Given the description of an element on the screen output the (x, y) to click on. 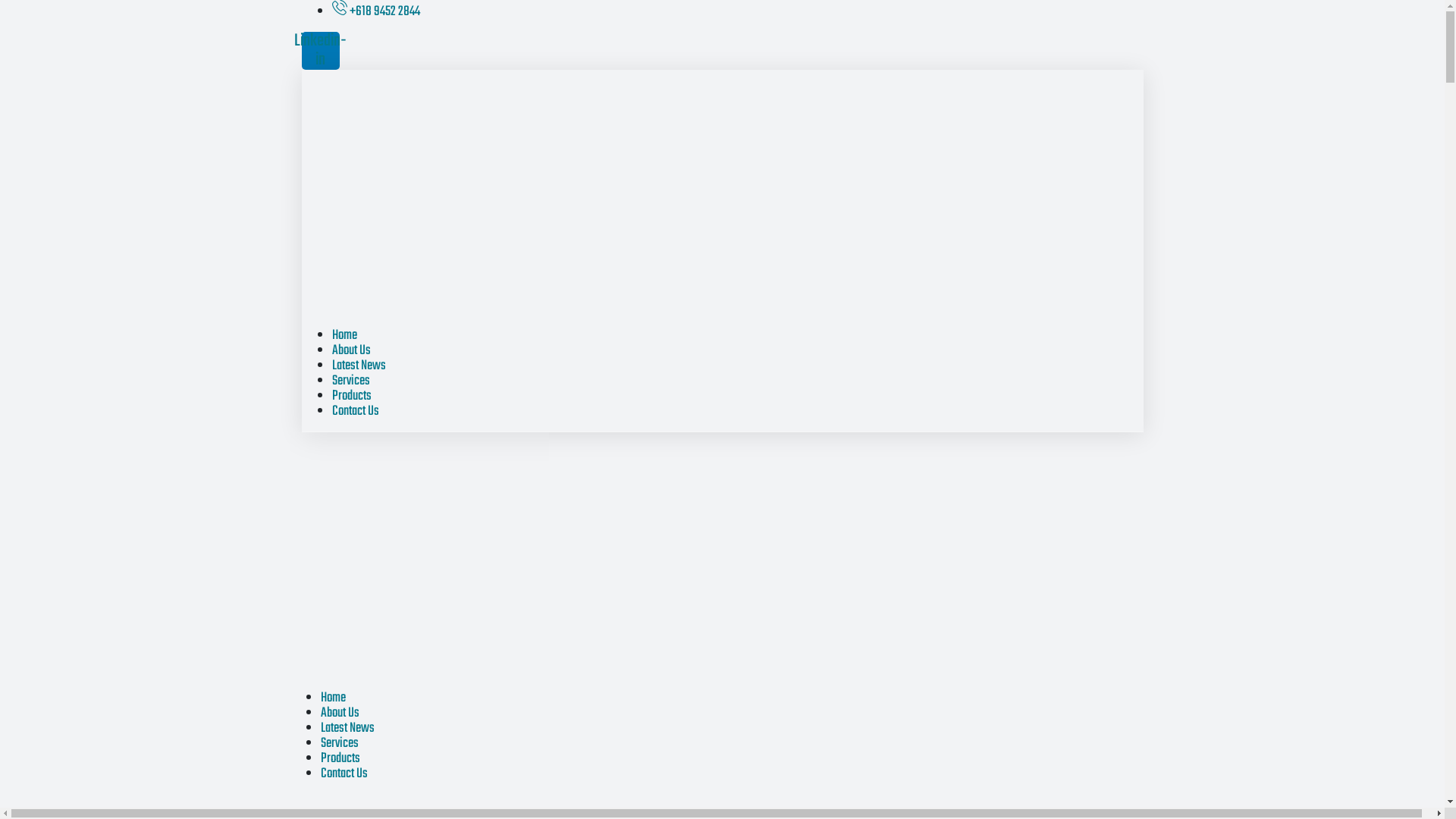
JD Rail Solutions Element type: hover (292, 801)
Linkedin-in Element type: text (320, 50)
Products Element type: text (339, 758)
Contact Us Element type: text (355, 411)
JD Rail Solutions Element type: hover (291, 801)
Home Element type: text (332, 698)
Home Element type: text (344, 335)
+618 9452 2844 Element type: text (376, 11)
Products Element type: text (351, 396)
Latest News Element type: text (358, 365)
Services Element type: text (338, 743)
Contact Us Element type: text (343, 773)
Latest News Element type: text (346, 728)
Services Element type: text (351, 381)
About Us Element type: text (339, 713)
About Us Element type: text (351, 350)
JD Rail Solutions Element type: hover (289, 801)
